Given the description of an element on the screen output the (x, y) to click on. 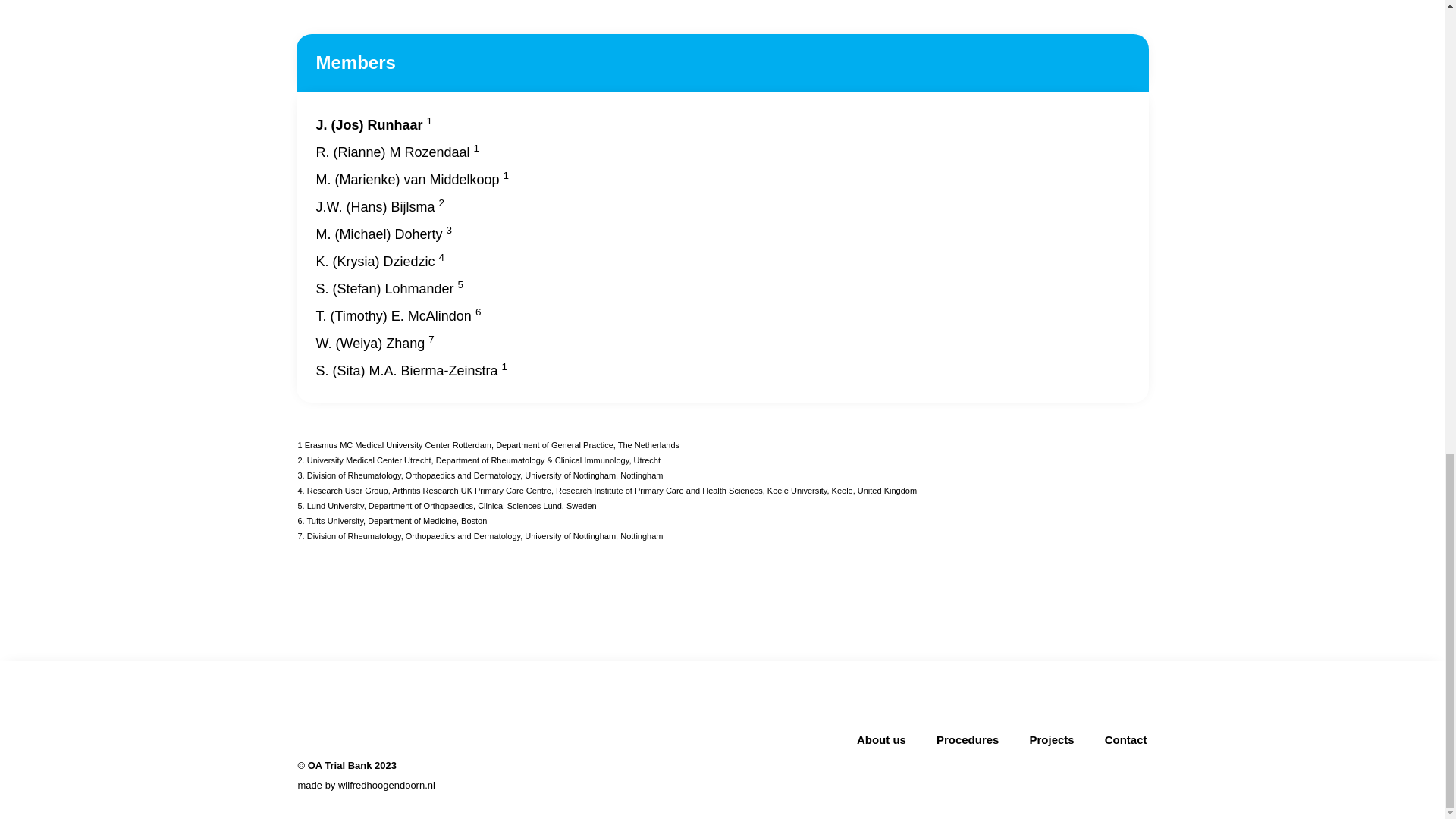
About us (881, 739)
wilfredhoogendoorn.nl (386, 785)
Contact (1126, 739)
Procedures (967, 739)
Projects (1051, 739)
